Given the description of an element on the screen output the (x, y) to click on. 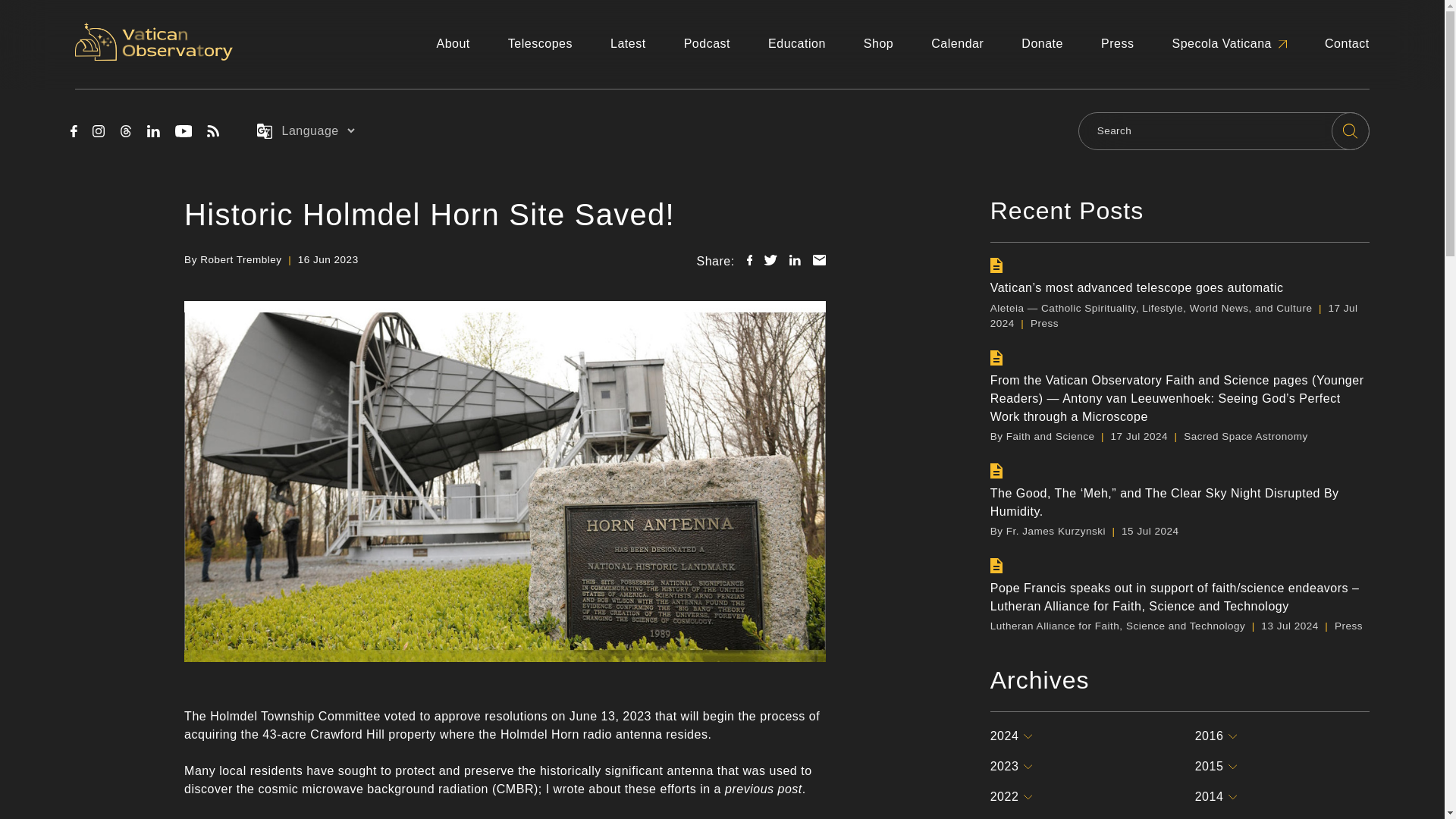
Share on Twitter (770, 259)
Latest (628, 43)
Shop (878, 43)
Share on LinkedIn (794, 259)
Podcast (707, 43)
Calendar (957, 43)
Telescopes (540, 43)
Donate (1042, 43)
Share via Email (818, 259)
Education (796, 43)
About (451, 43)
